Given the description of an element on the screen output the (x, y) to click on. 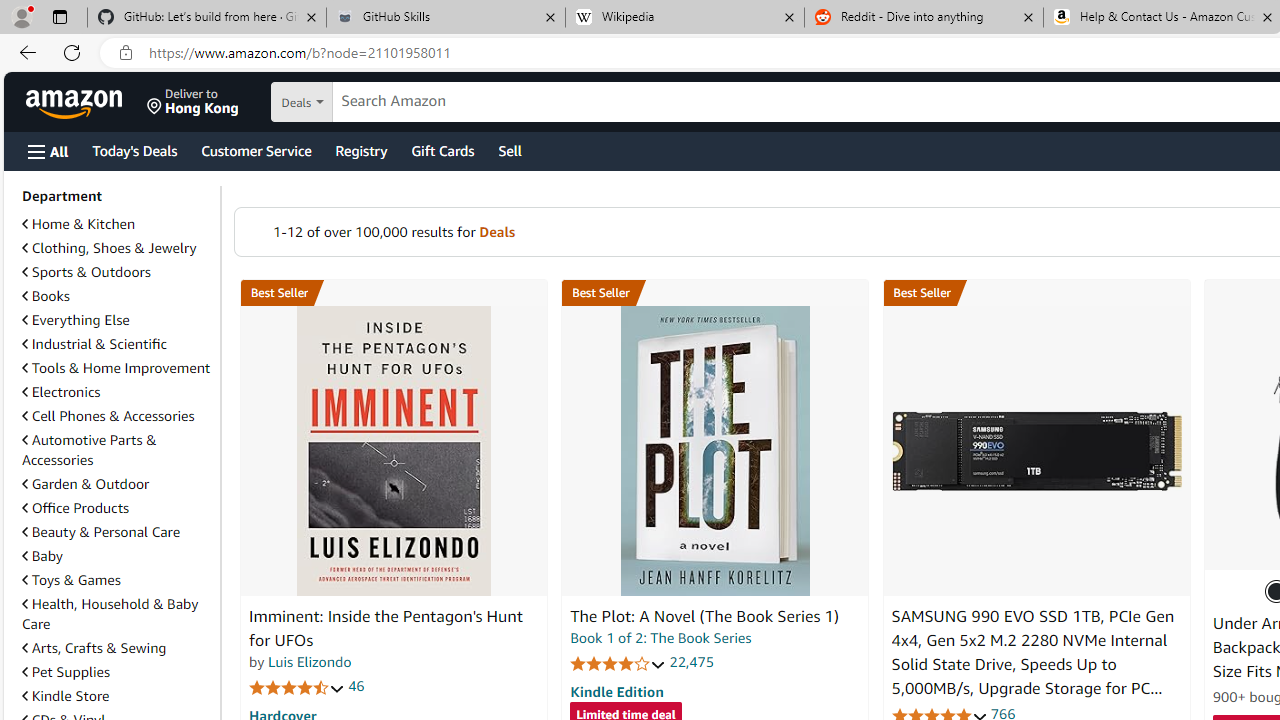
Baby (117, 555)
Reddit - Dive into anything (924, 17)
Sell (509, 150)
Arts, Crafts & Sewing (117, 647)
Best Seller in Heist Thrillers (715, 293)
Imminent: Inside the Pentagon's Hunt for UFOs (386, 628)
Sports & Outdoors (86, 271)
Garden & Outdoor (117, 483)
Kindle Store (117, 696)
Automotive Parts & Accessories (89, 449)
Sports & Outdoors (117, 272)
Toys & Games (71, 579)
